Given the description of an element on the screen output the (x, y) to click on. 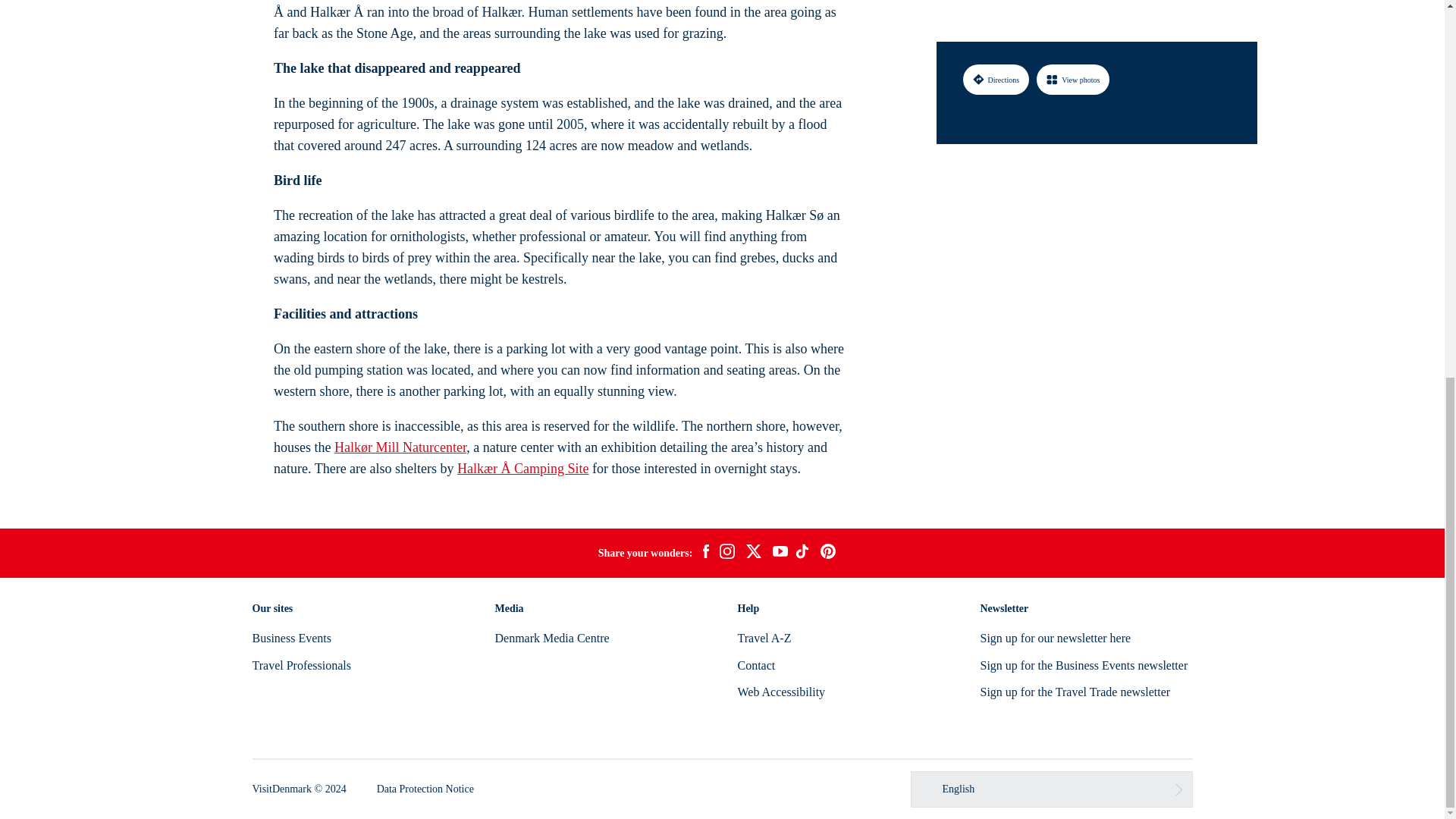
facebook (705, 553)
Sign up for the Travel Trade newsletter (1074, 691)
Sign up for the Business Events newsletter (1083, 665)
Sign up for our newsletter here (1055, 637)
Denmark Media Centre (551, 637)
Contact (755, 665)
Data Protection Notice (425, 789)
Travel Professionals (300, 665)
Business Events (290, 637)
Travel Professionals (300, 665)
